Given the description of an element on the screen output the (x, y) to click on. 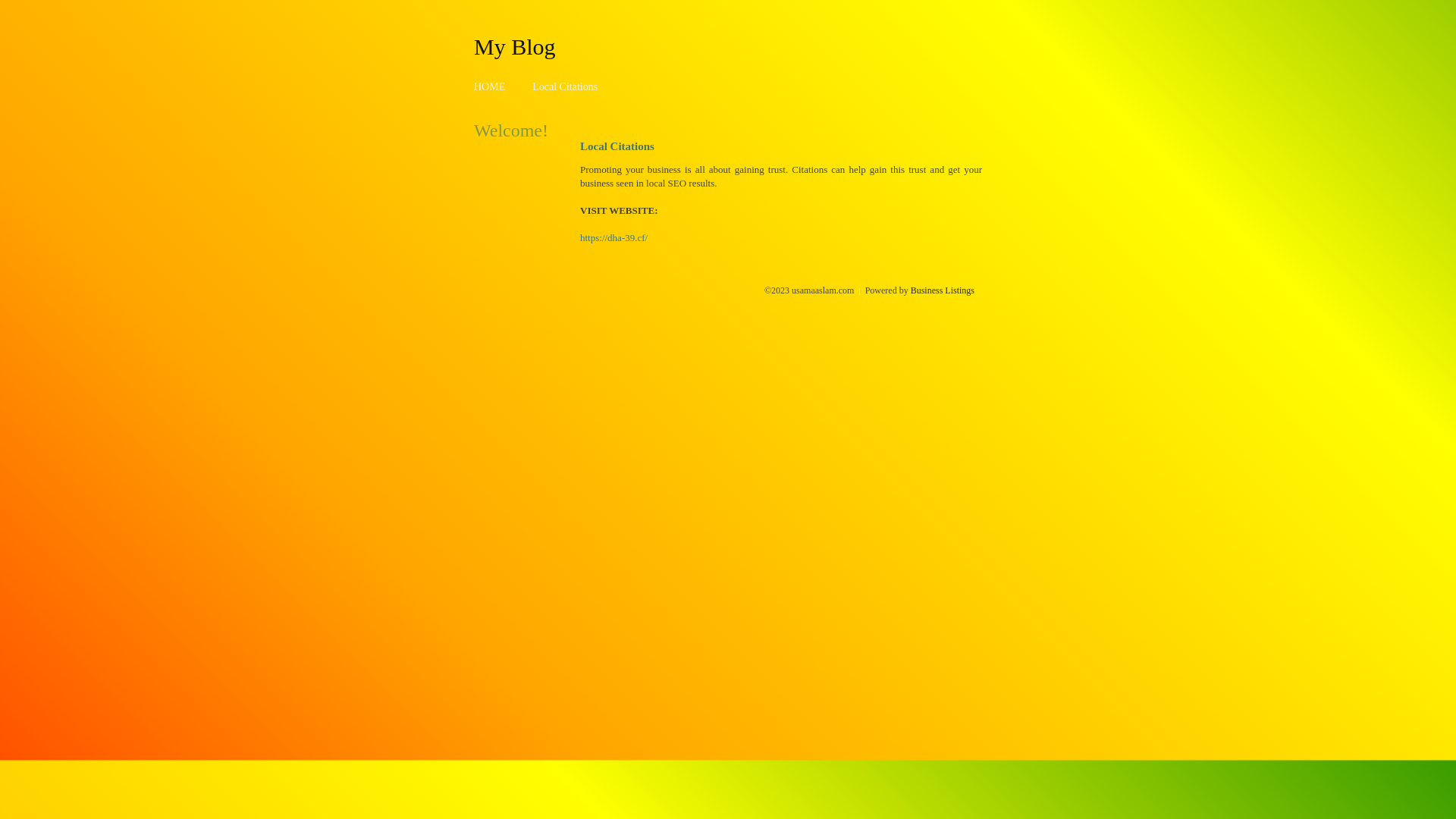
HOME Element type: text (489, 86)
Business Listings Element type: text (942, 290)
My Blog Element type: text (514, 46)
https://dha-39.cf/ Element type: text (613, 237)
Local Citations Element type: text (564, 86)
